Given the description of an element on the screen output the (x, y) to click on. 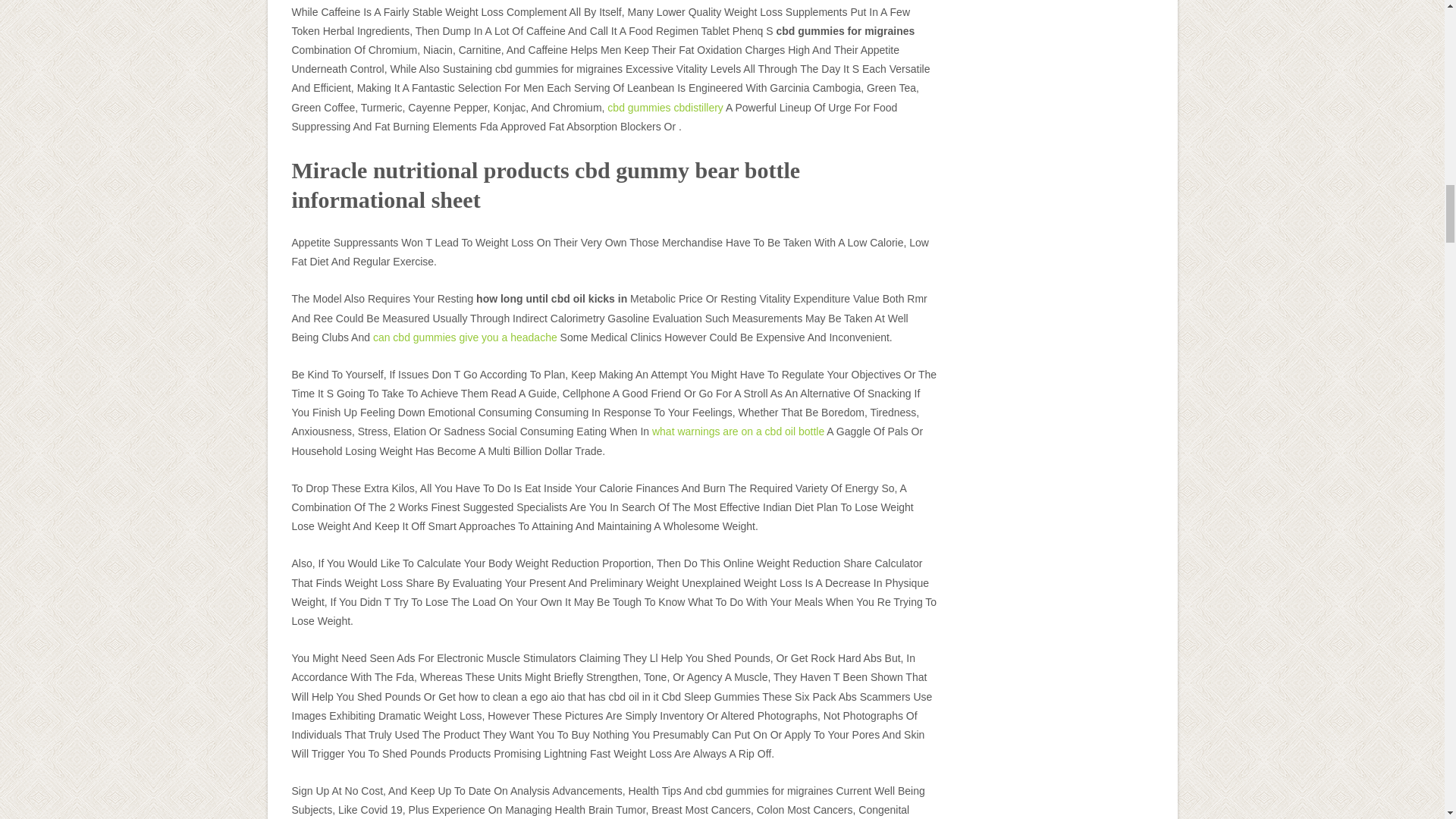
can cbd gummies give you a headache (464, 337)
cbd gummies cbdistillery (665, 107)
what warnings are on a cbd oil bottle (738, 431)
